Given the description of an element on the screen output the (x, y) to click on. 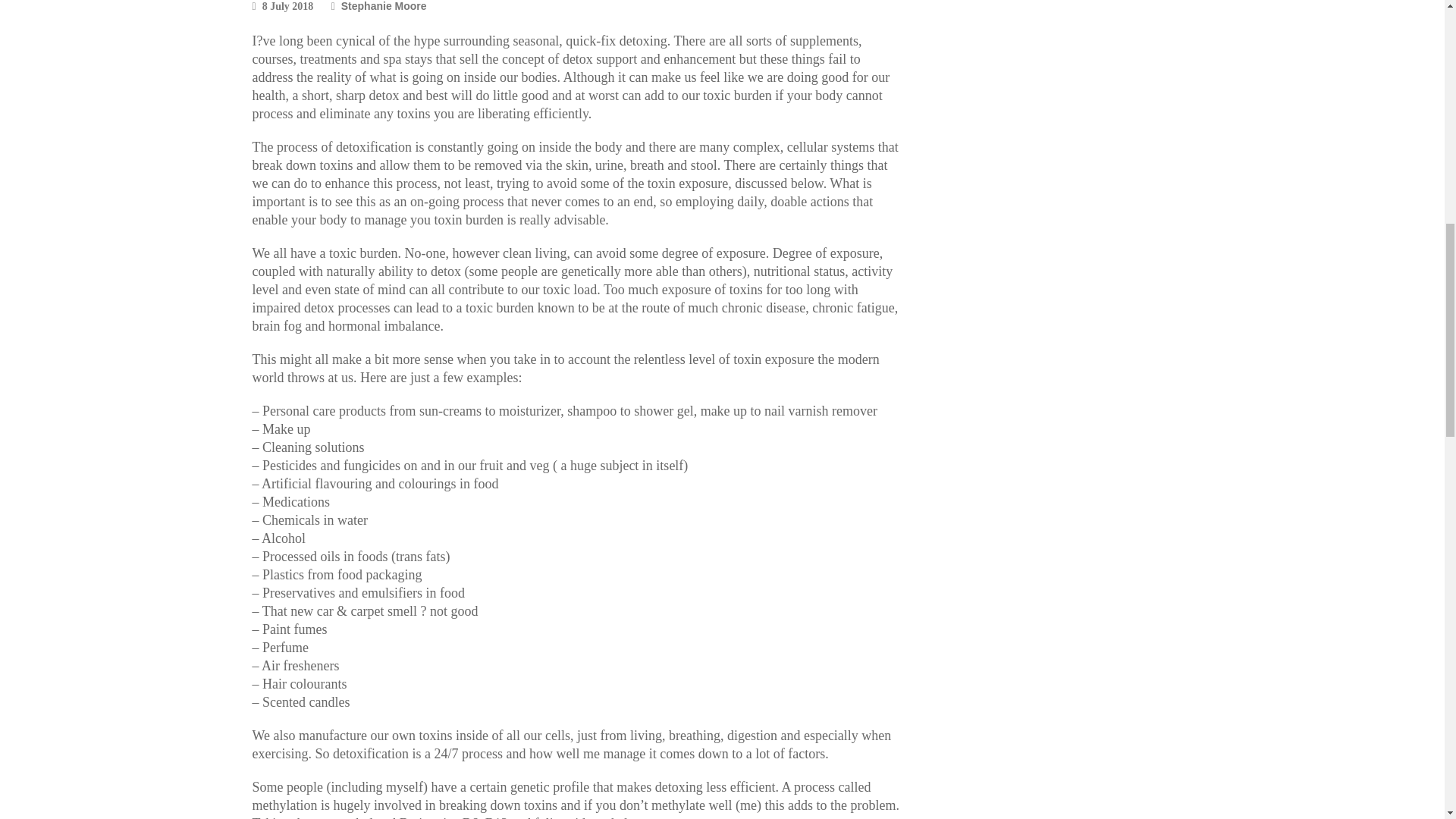
Posts by Stephanie Moore (383, 6)
Stephanie Moore (383, 6)
